Given the description of an element on the screen output the (x, y) to click on. 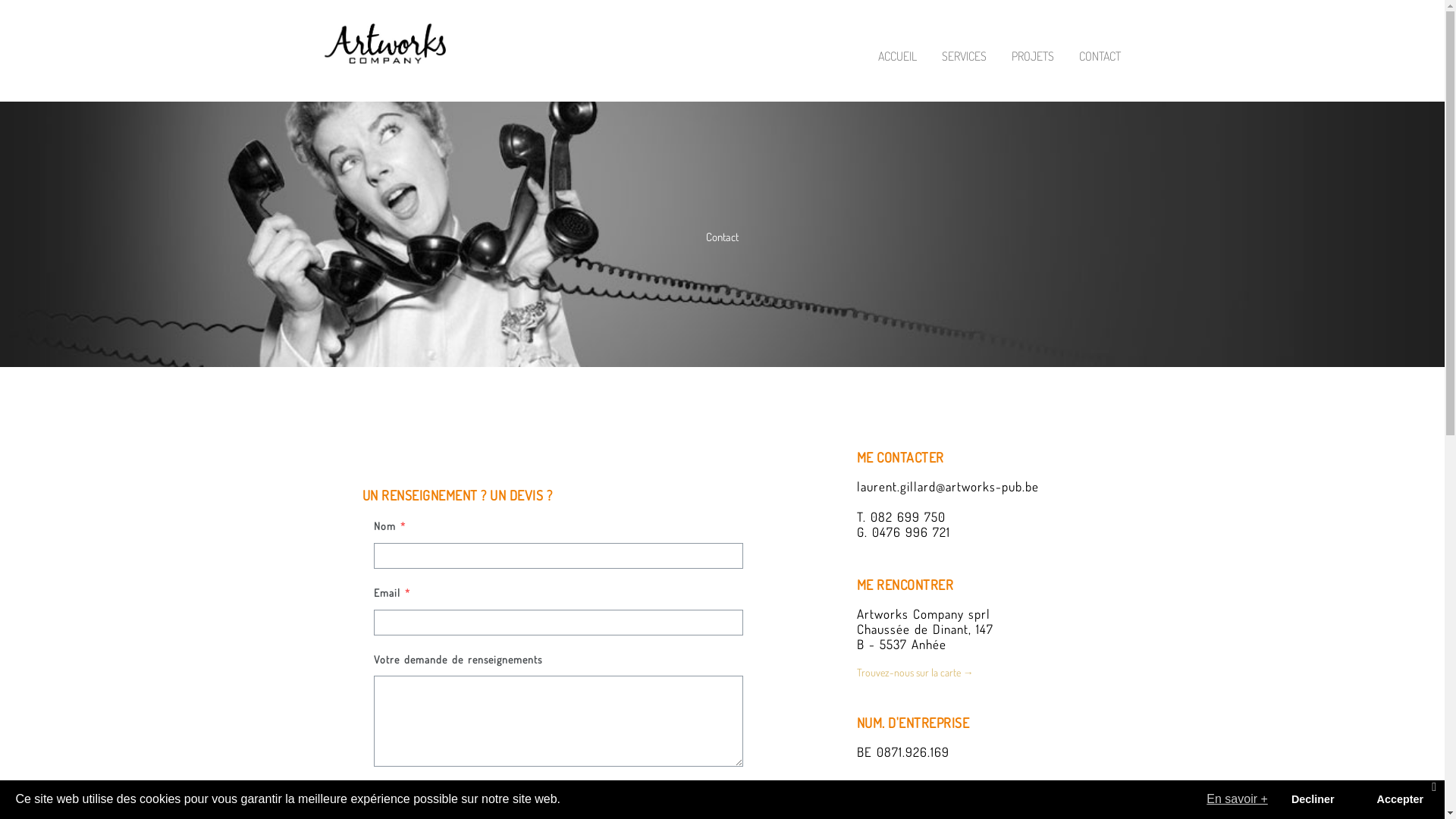
En savoir + Element type: text (1237, 798)
SERVICES Element type: text (963, 55)
CONTACT Element type: text (1099, 55)
Artworks Pub Element type: hover (384, 43)
PROJETS Element type: text (1032, 55)
ACCUEIL Element type: text (897, 55)
laurent.gillard@artworks-pub.be Element type: text (947, 486)
